Given the description of an element on the screen output the (x, y) to click on. 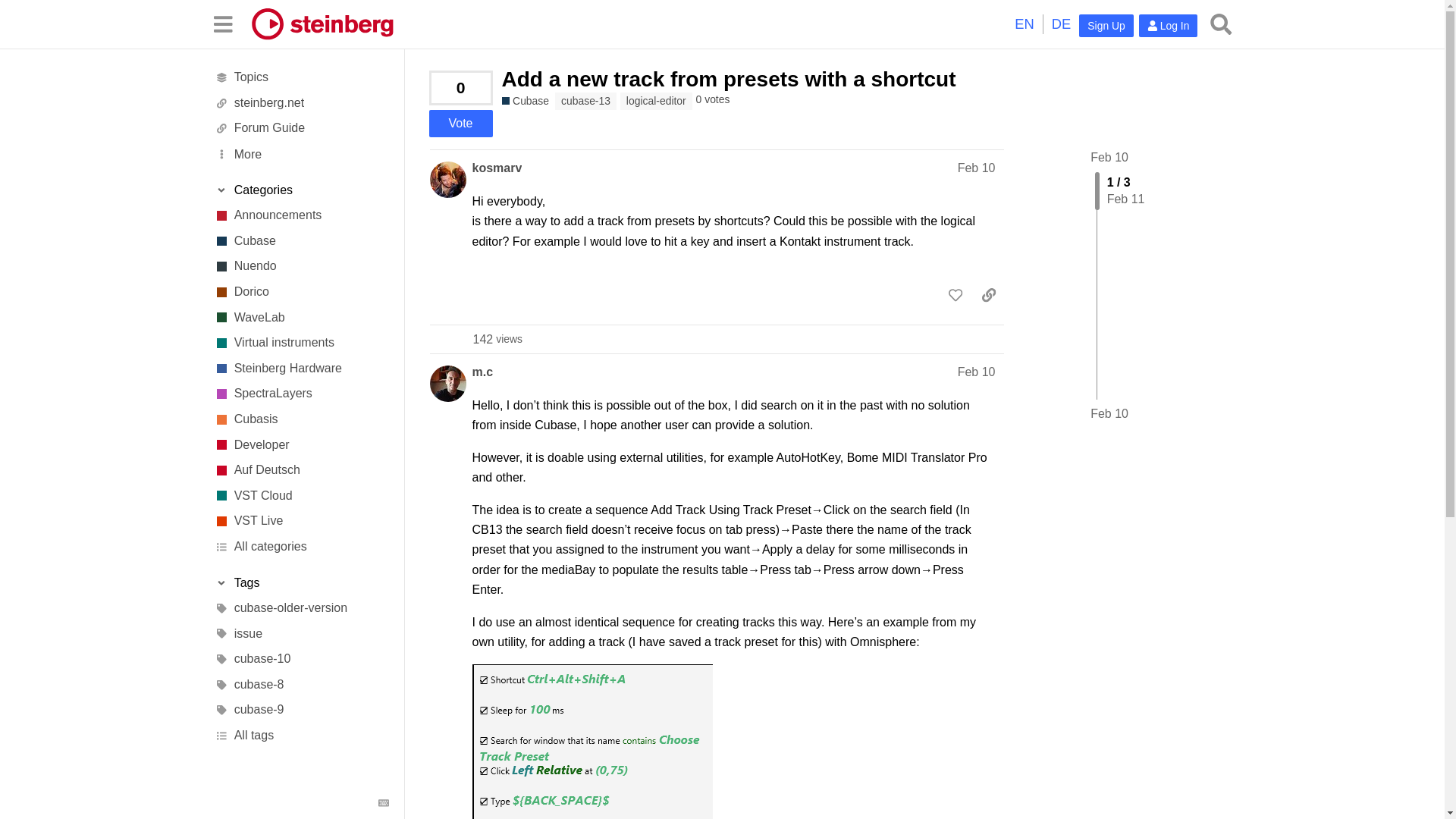
The vanguard of spectral editing and repair. (301, 394)
Sign Up (1105, 25)
Your personal, portable mobile DAW for iOS and Android (301, 419)
steinberg.net (301, 103)
Categories (301, 190)
Toggle section (301, 190)
Dorico (301, 291)
Log In (1168, 25)
Developer Forums (301, 444)
Great sounding audio interfaces and intuitive controllers. (301, 368)
